Given the description of an element on the screen output the (x, y) to click on. 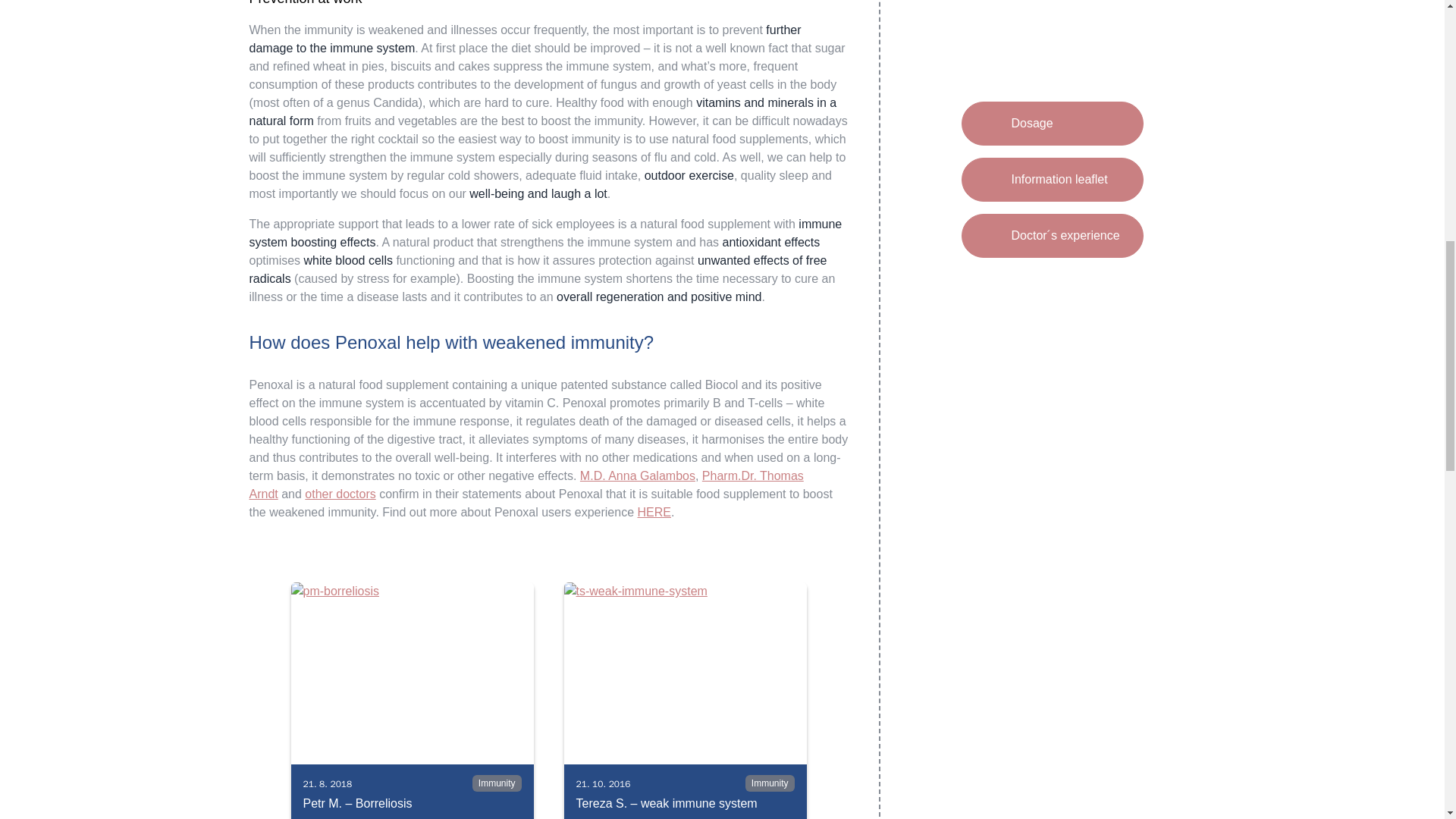
Pharm.Dr. Thomas Arndt (525, 484)
Immunity (769, 782)
M.D. Anna Galambos (637, 475)
other doctors (339, 493)
HERE (653, 512)
Immunity (496, 782)
